Given the description of an element on the screen output the (x, y) to click on. 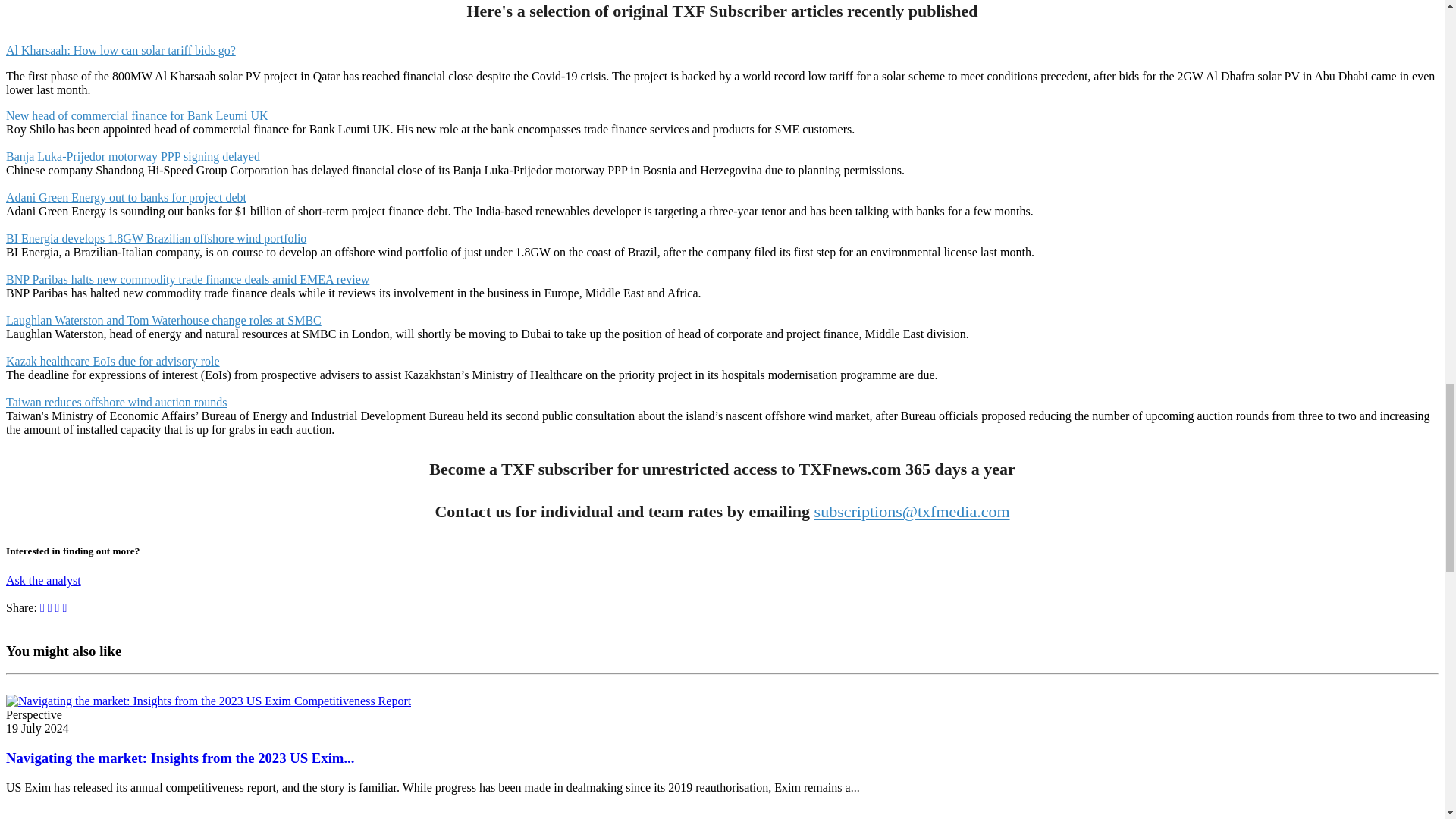
Al Kharsaah: How low can solar tariff bids go? (120, 50)
New head of commercial finance for Bank Leumi UK (136, 115)
Banja Luka-Prijedor motorway PPP signing delayed (132, 155)
